Given the description of an element on the screen output the (x, y) to click on. 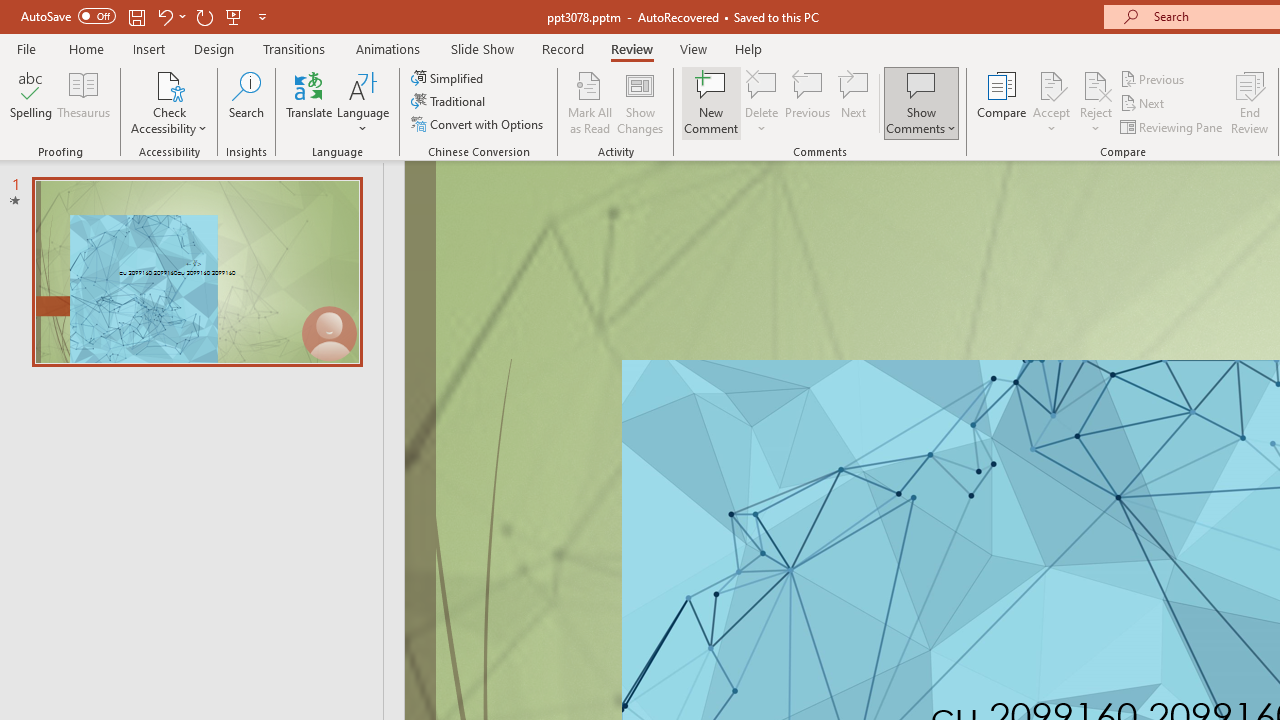
Reviewing Pane (1172, 126)
Accept Change (1051, 84)
Previous (1153, 78)
Reject (1096, 102)
Translate (309, 102)
Simplified (449, 78)
